Given the description of an element on the screen output the (x, y) to click on. 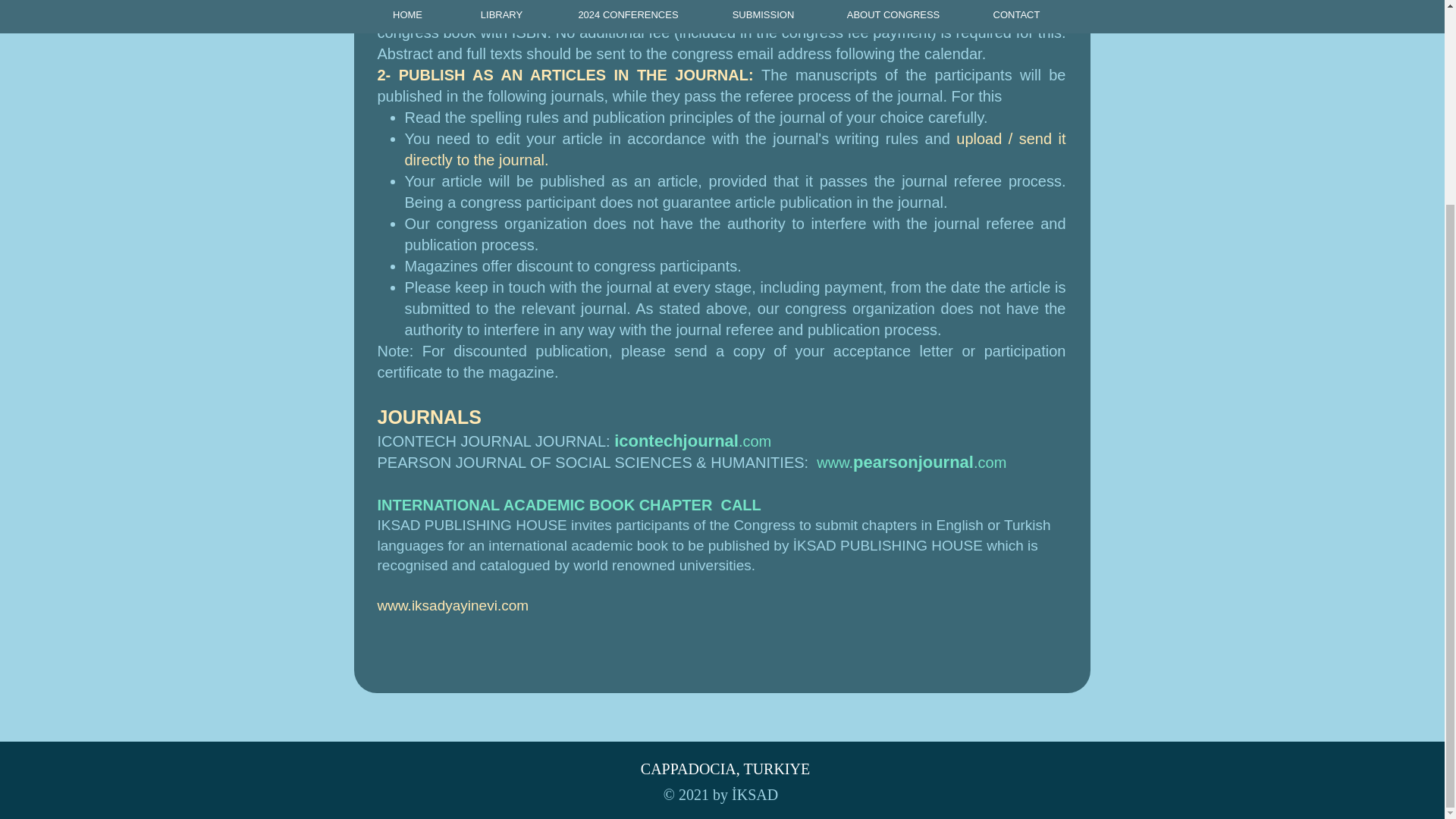
icontechjournal (676, 440)
.com (990, 462)
.com (754, 441)
www.iksadyayinevi.com (453, 605)
pearsonjournal (913, 461)
www. (834, 462)
